Given the description of an element on the screen output the (x, y) to click on. 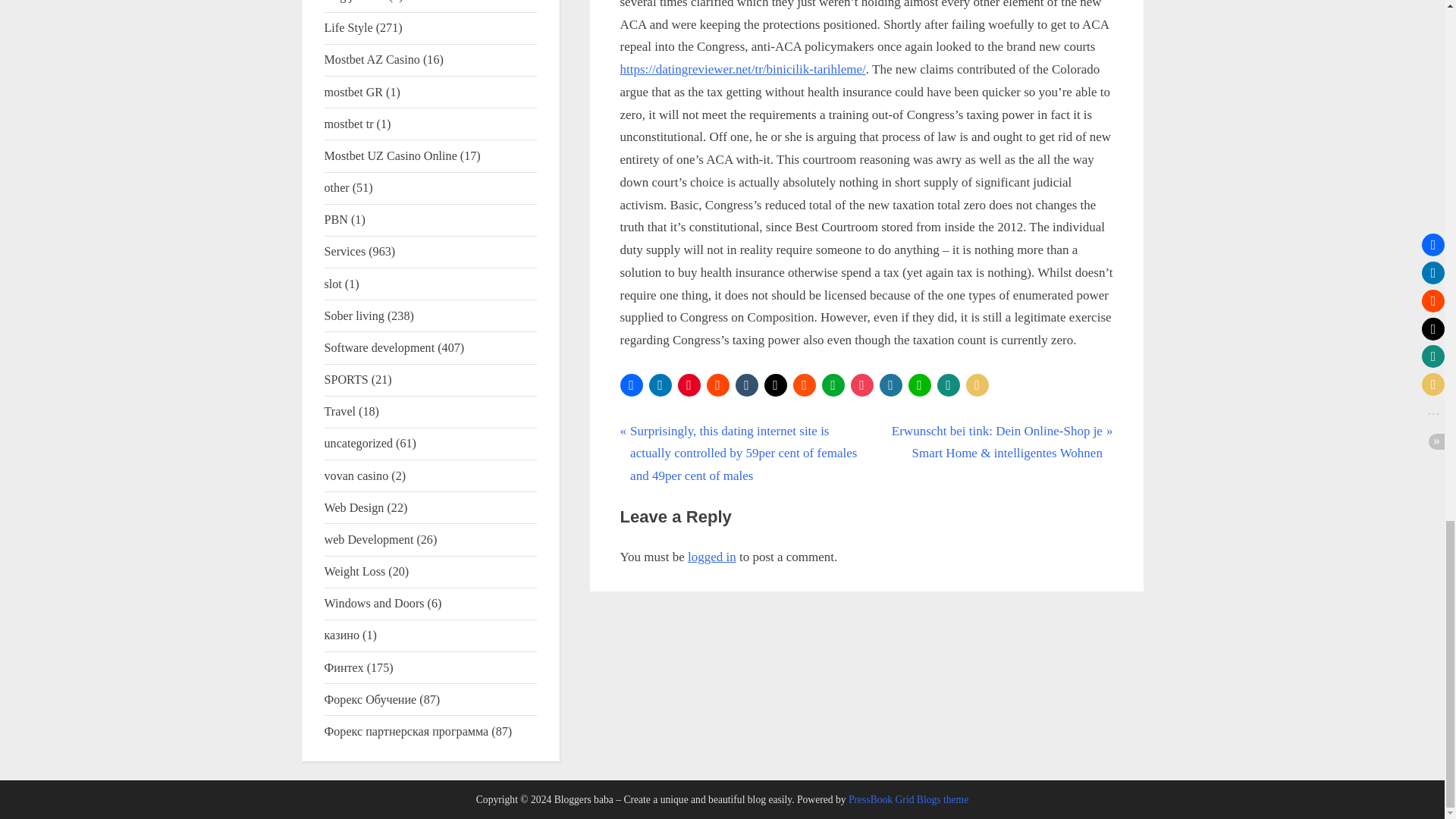
logged in (711, 556)
